Given the description of an element on the screen output the (x, y) to click on. 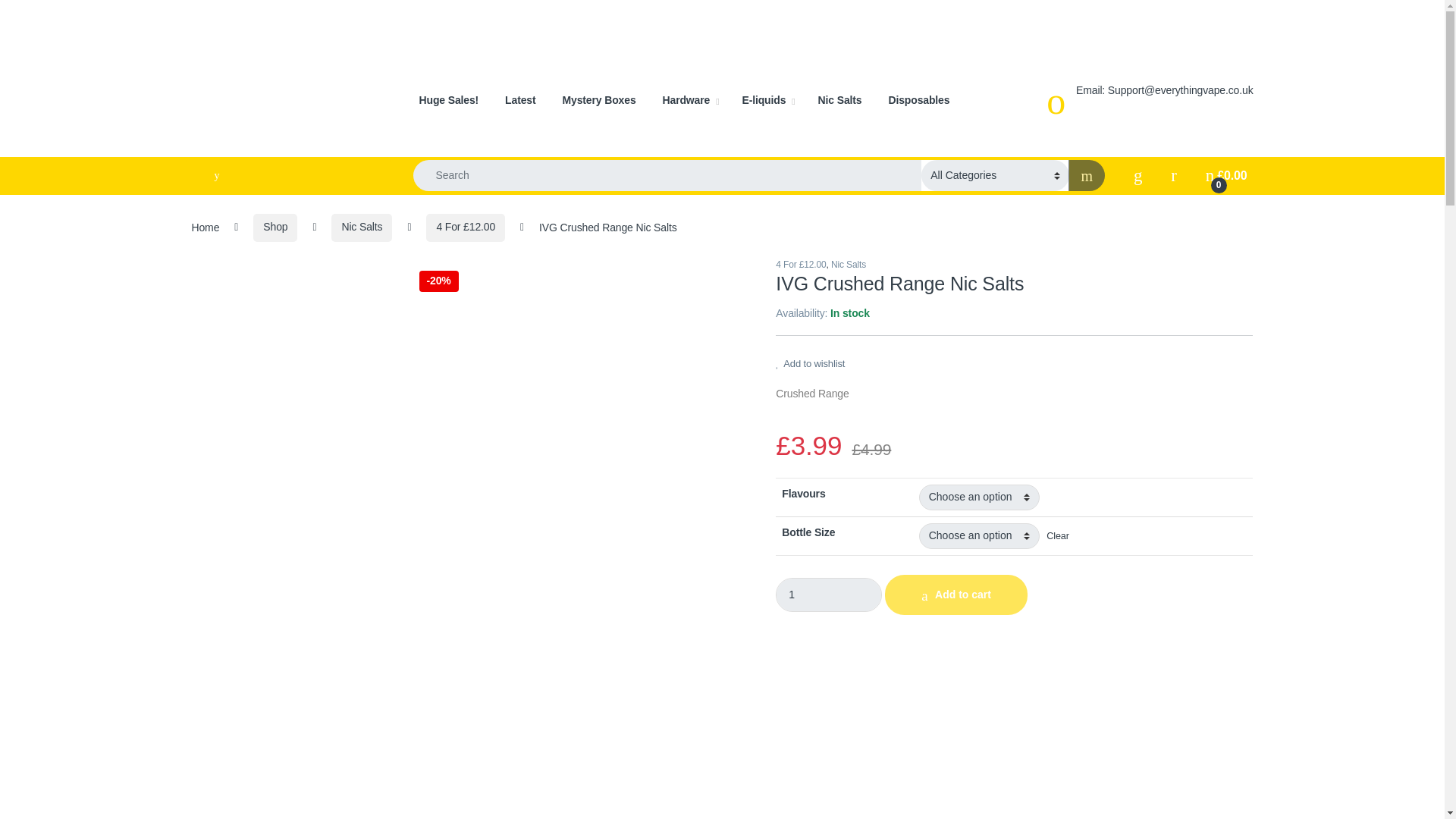
1 (829, 594)
Huge Sales! (449, 100)
Nic Salts (839, 100)
Mystery Boxes (599, 100)
Hardware (690, 100)
E-liquids (767, 100)
